Given the description of an element on the screen output the (x, y) to click on. 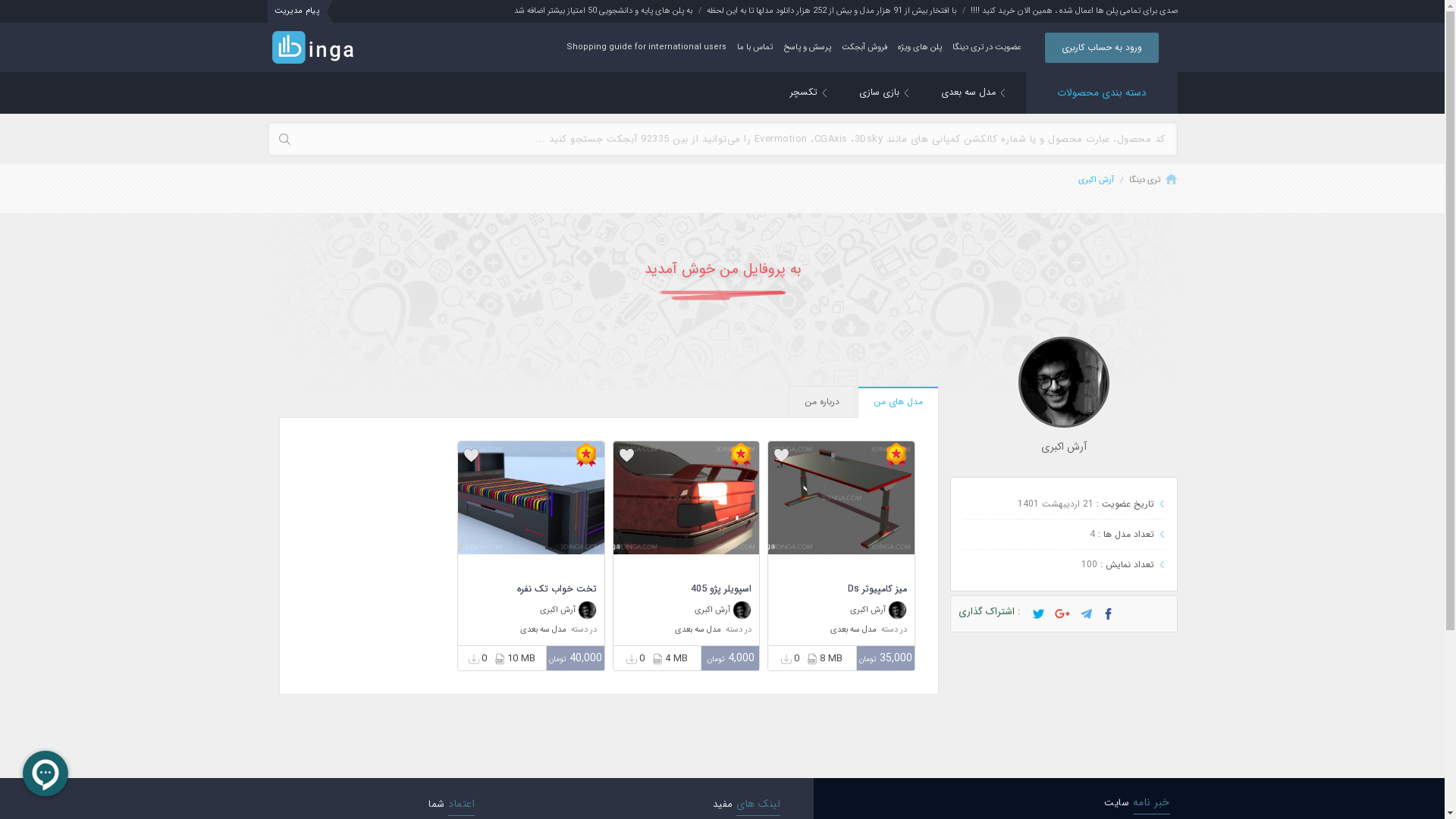
Shopping guide for international users Element type: text (646, 47)
goftino_widget Element type: hover (45, 773)
